Given the description of an element on the screen output the (x, y) to click on. 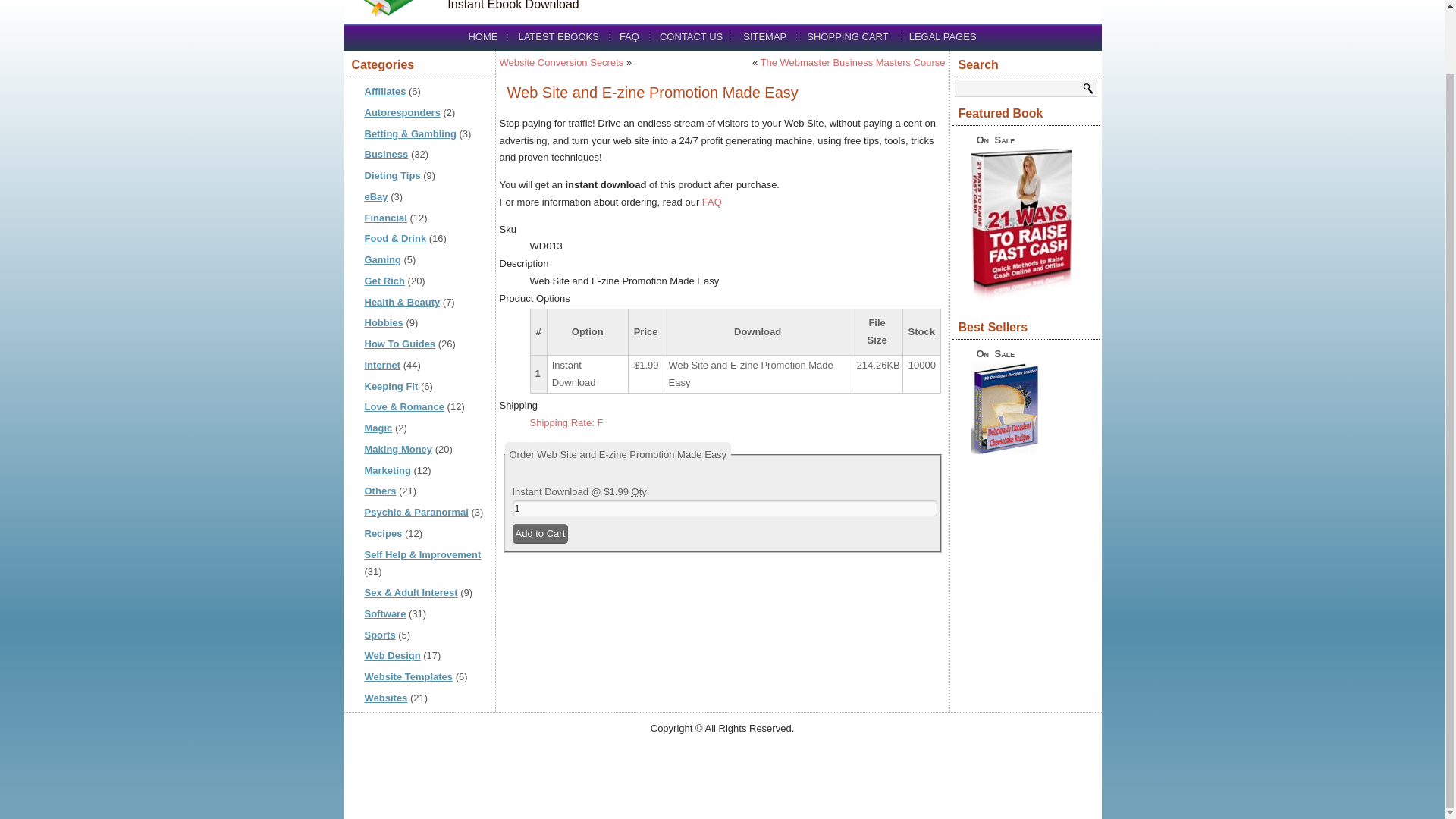
Keeping Fit (390, 386)
Magic (377, 428)
Gaming (382, 259)
FAQ (628, 36)
Website Templates (408, 676)
Add to Cart (540, 533)
Hobbies (383, 322)
SITEMAP (764, 36)
Dieting Tips (392, 174)
LEGAL PAGES (942, 36)
